Given the description of an element on the screen output the (x, y) to click on. 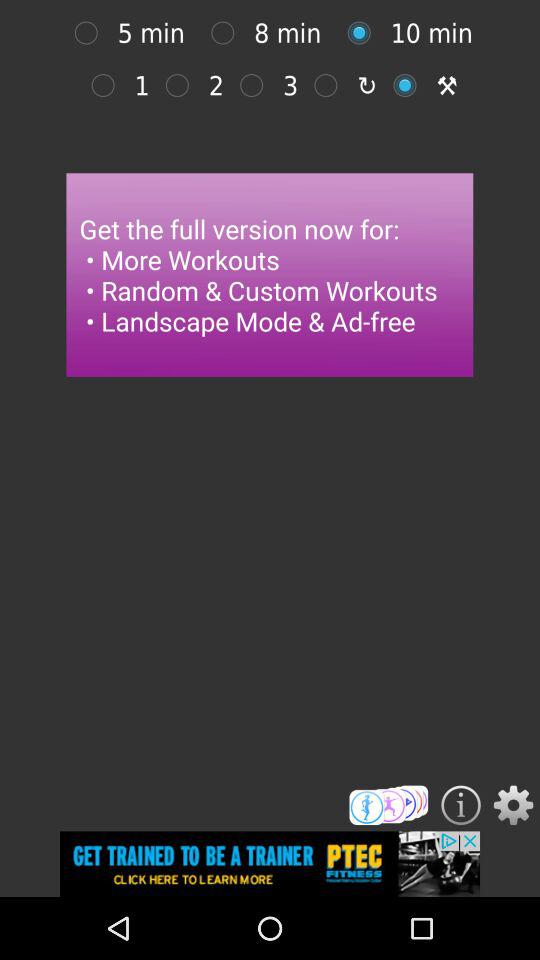
choose 8 minutes (91, 32)
